Given the description of an element on the screen output the (x, y) to click on. 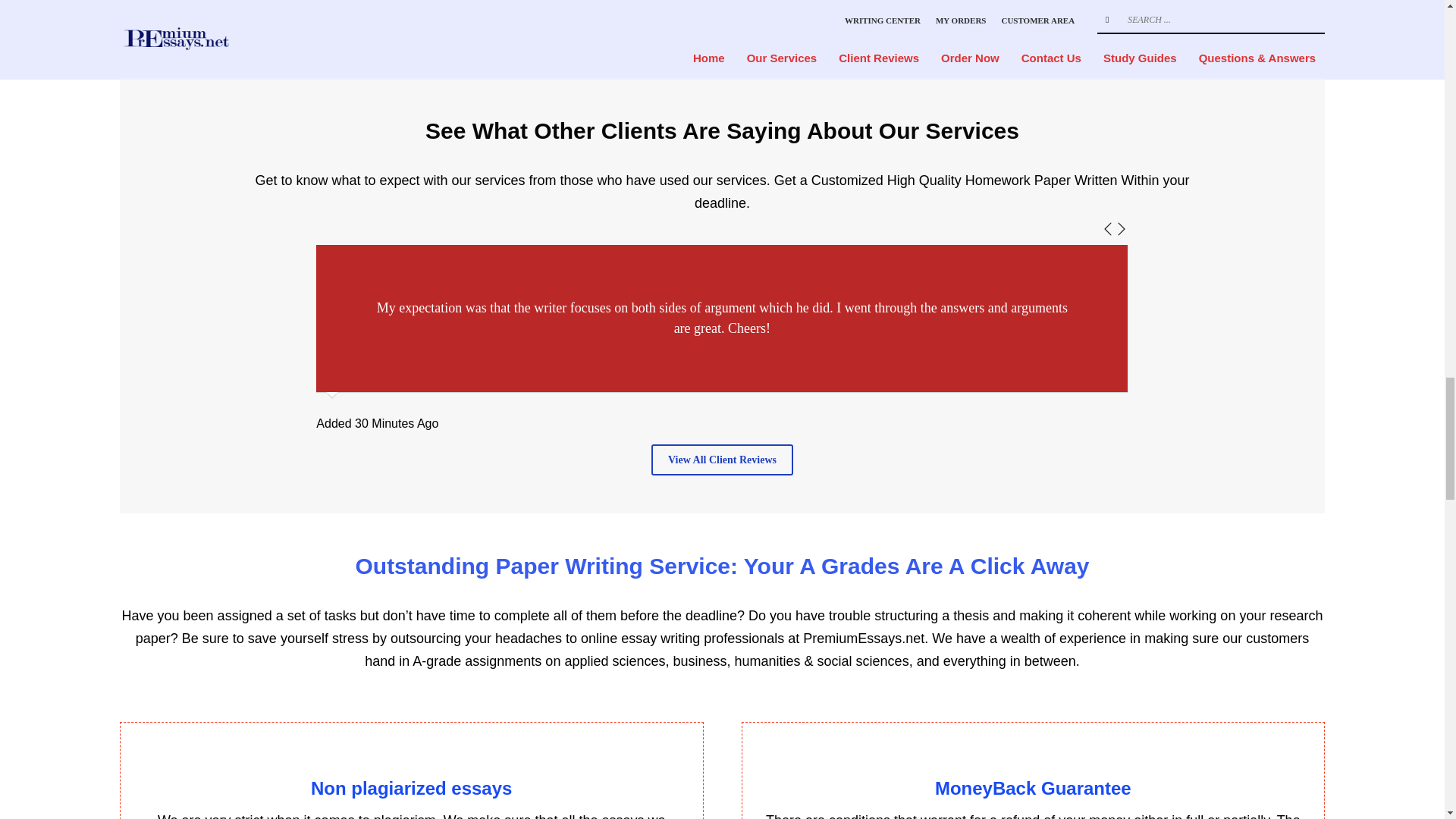
View All Client Reviews (721, 459)
